Given the description of an element on the screen output the (x, y) to click on. 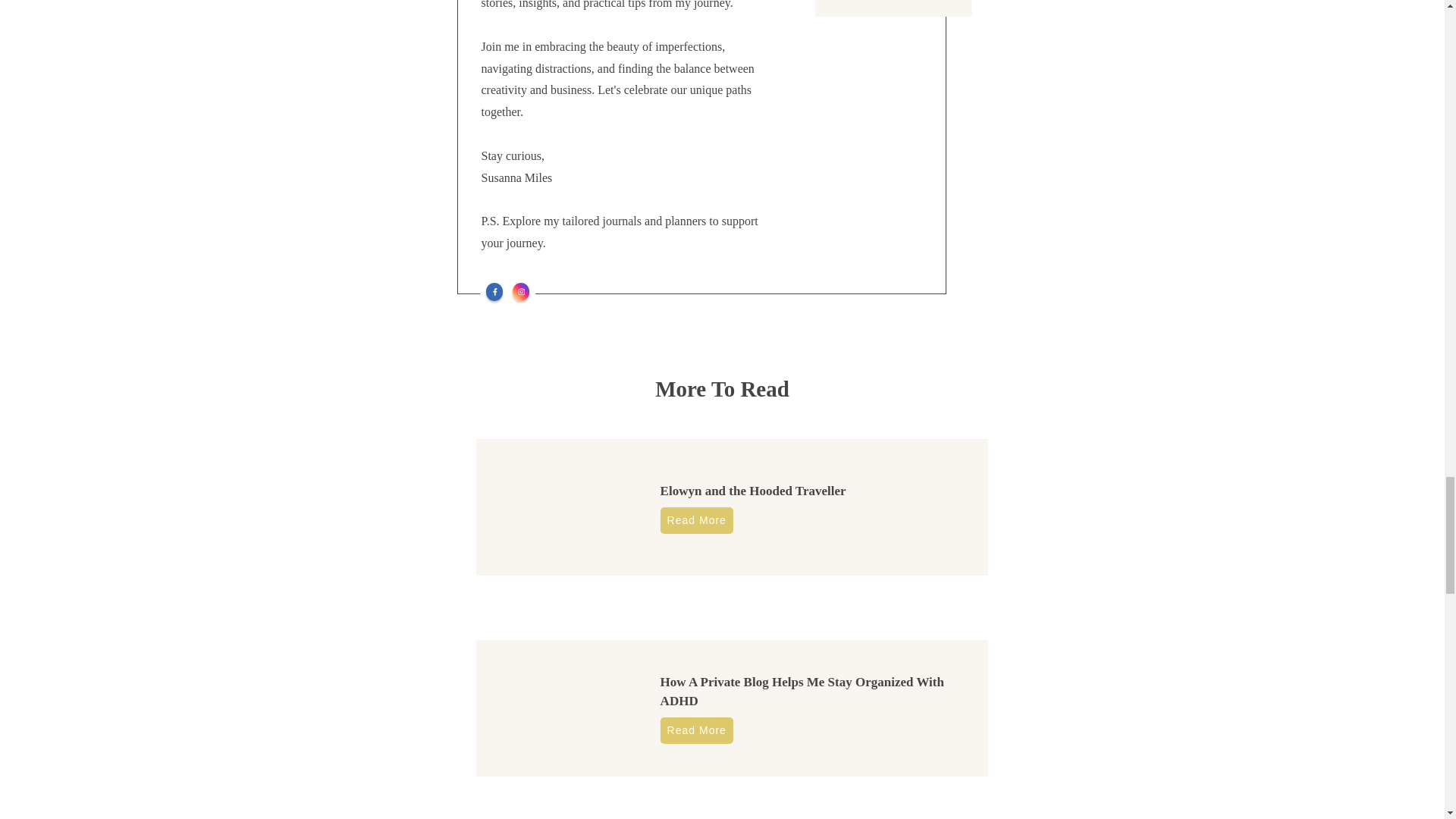
Elowyn and the Hooded Traveller (753, 490)
How A Private Blog Helps Me Stay Organized With ADHD (802, 691)
Read More (697, 730)
Elowyn and the Hooded Traveller (753, 490)
Read More (697, 519)
How A Private Blog Helps Me Stay Organized With ADHD (802, 691)
